Given the description of an element on the screen output the (x, y) to click on. 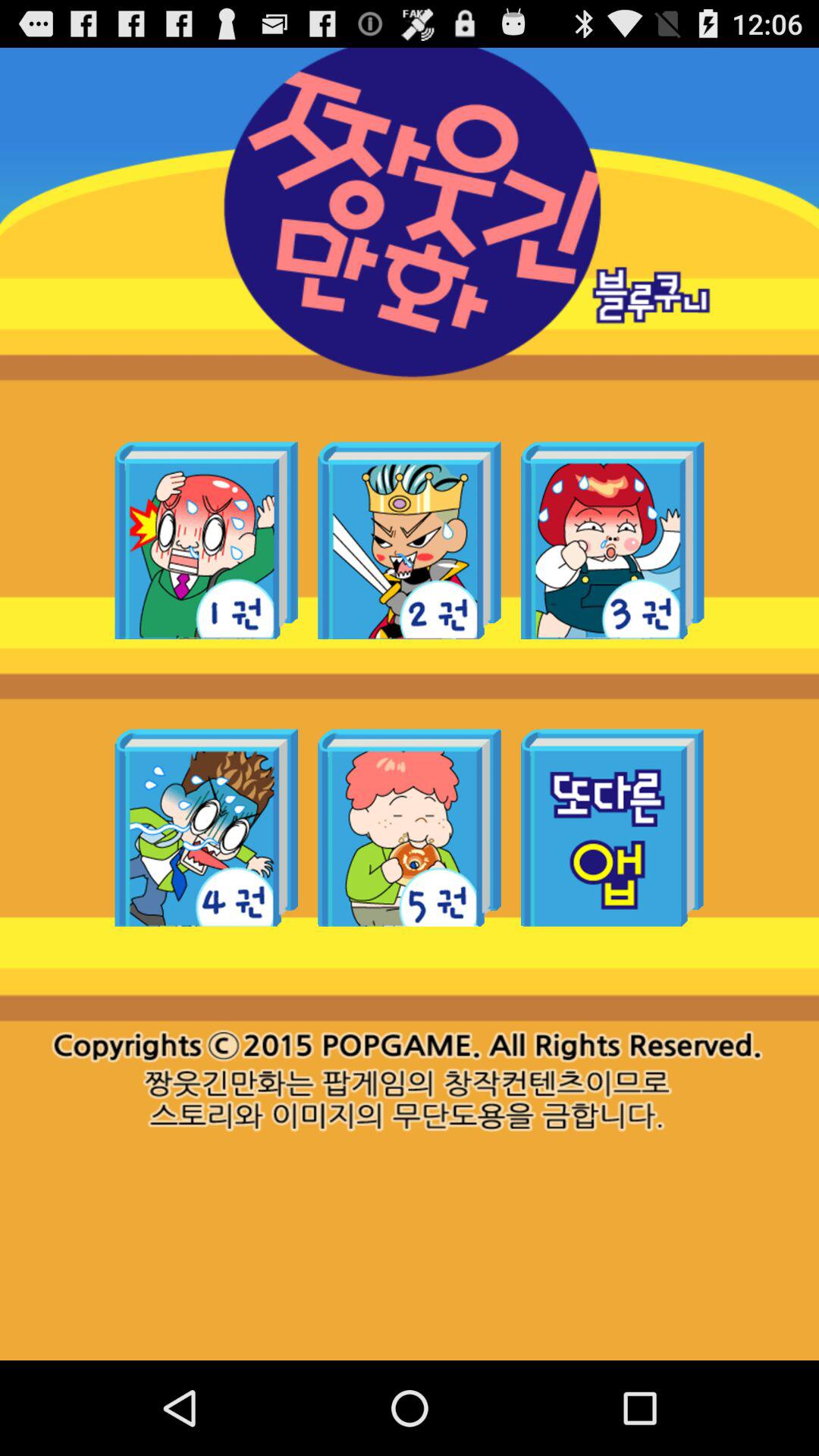
select the game (612, 540)
